Given the description of an element on the screen output the (x, y) to click on. 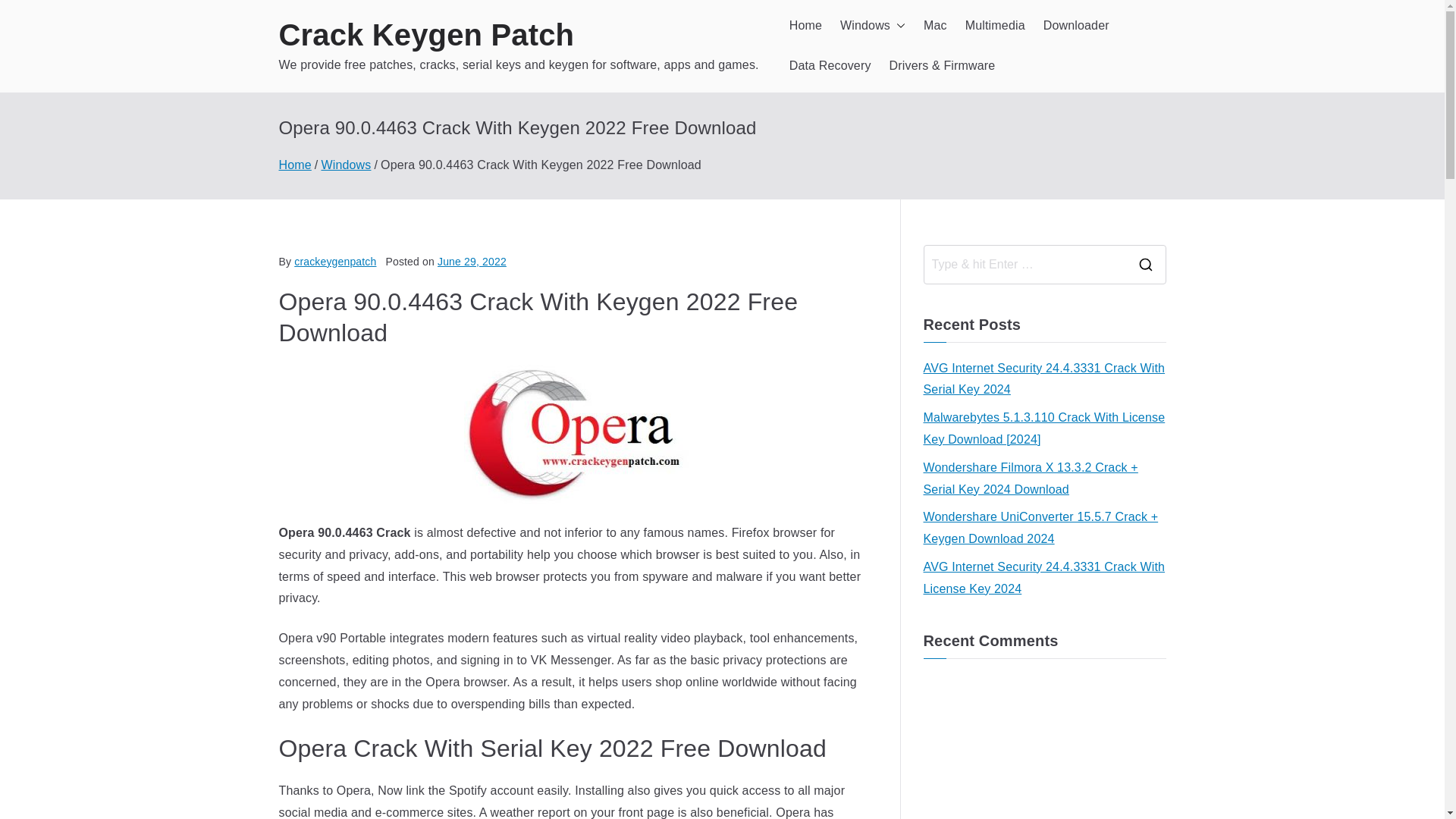
Windows (872, 25)
Crack Keygen Patch (427, 34)
Home (805, 25)
Multimedia (995, 25)
Downloader (1076, 25)
crackeygenpatch (334, 261)
Search for: (1024, 264)
June 29, 2022 (472, 261)
Windows (345, 164)
Home (295, 164)
Data Recovery (829, 65)
Mac (935, 25)
